Given the description of an element on the screen output the (x, y) to click on. 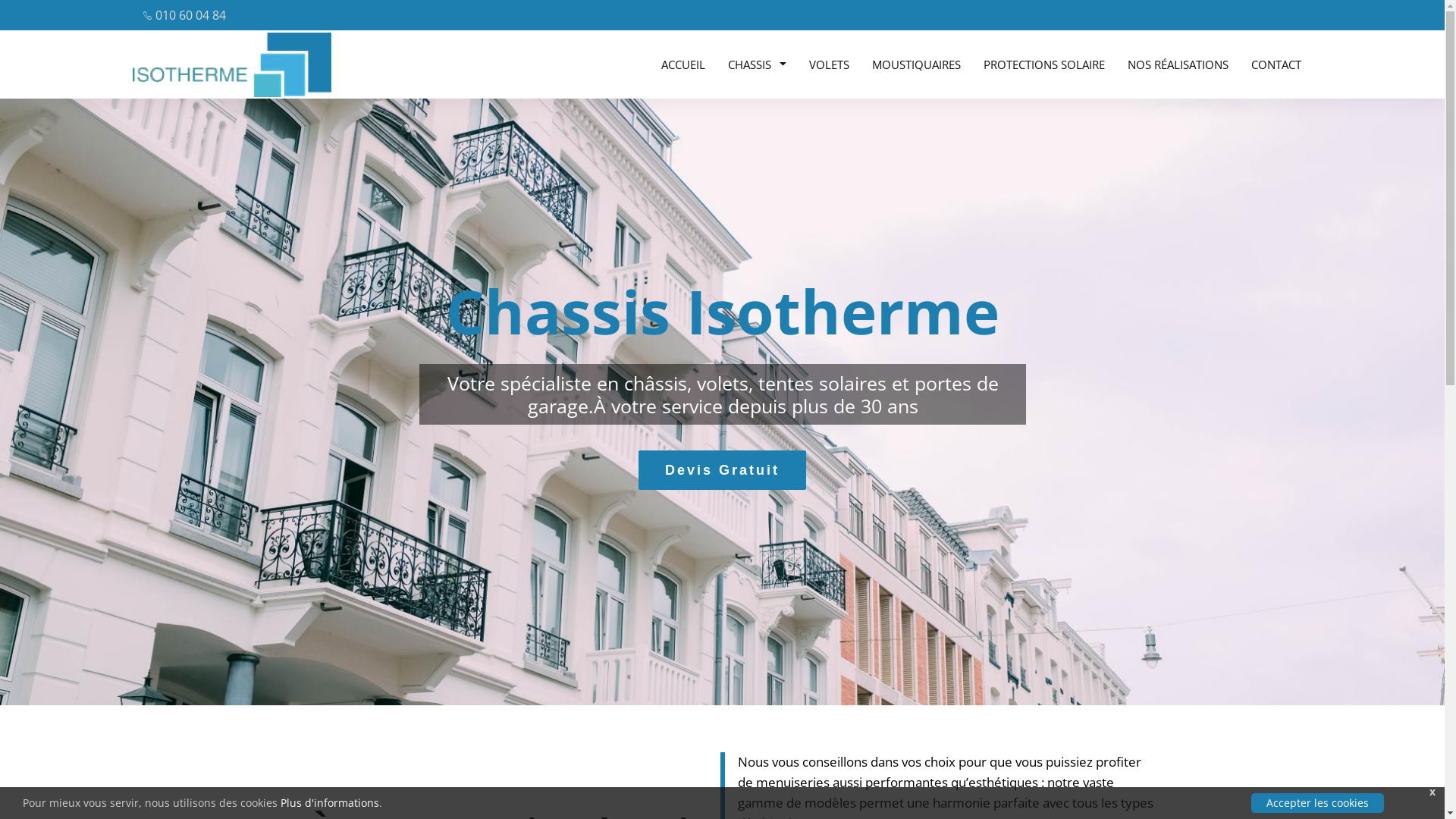
ACCUEIL Element type: text (683, 64)
010 60 04 84 Element type: text (184, 15)
CONTACT Element type: text (1276, 64)
Plus d'informations Element type: text (329, 802)
MOUSTIQUAIRES Element type: text (916, 64)
VOLETS Element type: text (829, 64)
PROTECTIONS SOLAIRE Element type: text (1043, 64)
Accepter les cookies Element type: text (1317, 802)
CHASSIS Element type: text (757, 64)
